Given the description of an element on the screen output the (x, y) to click on. 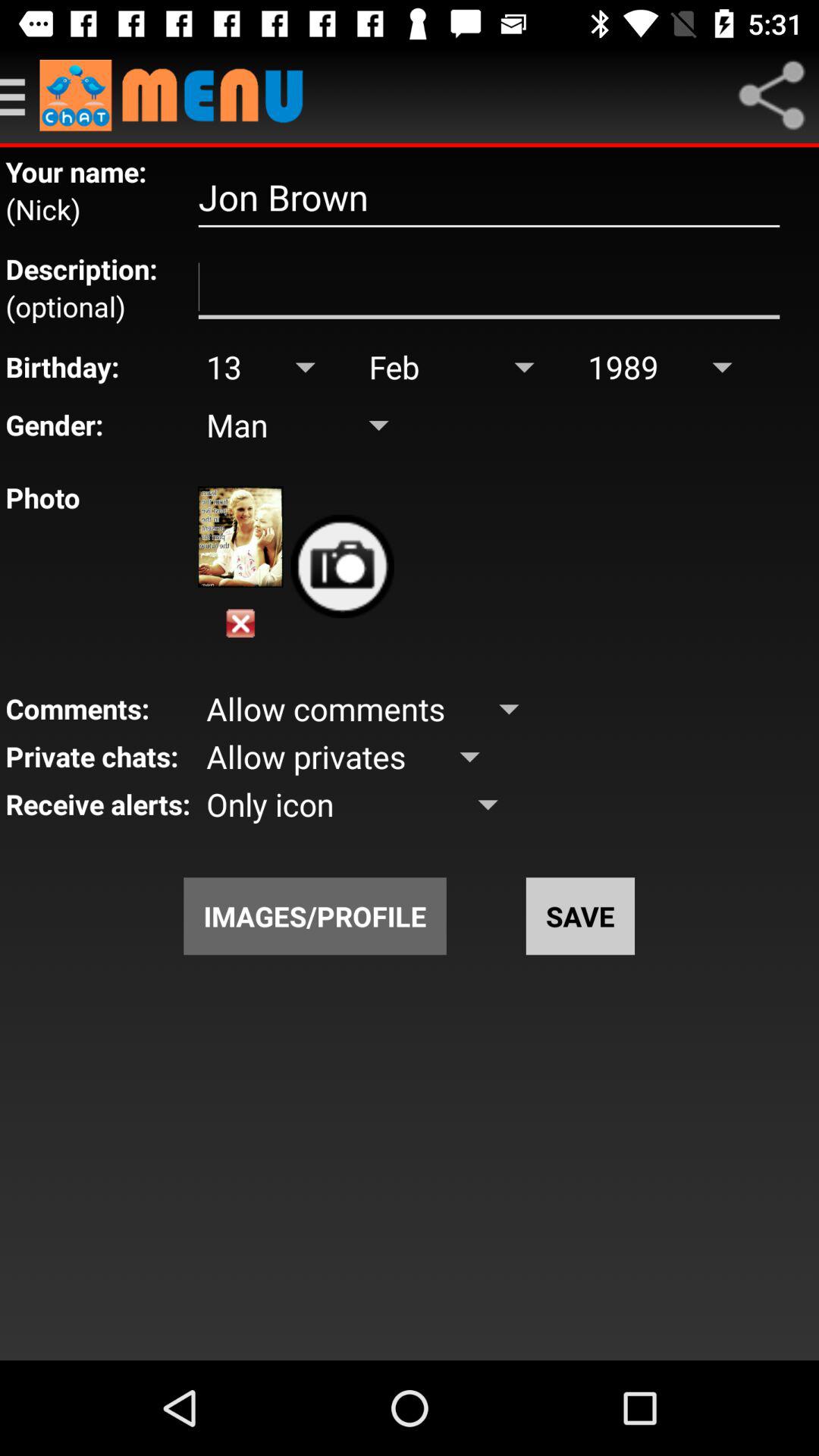
menu (178, 95)
